Given the description of an element on the screen output the (x, y) to click on. 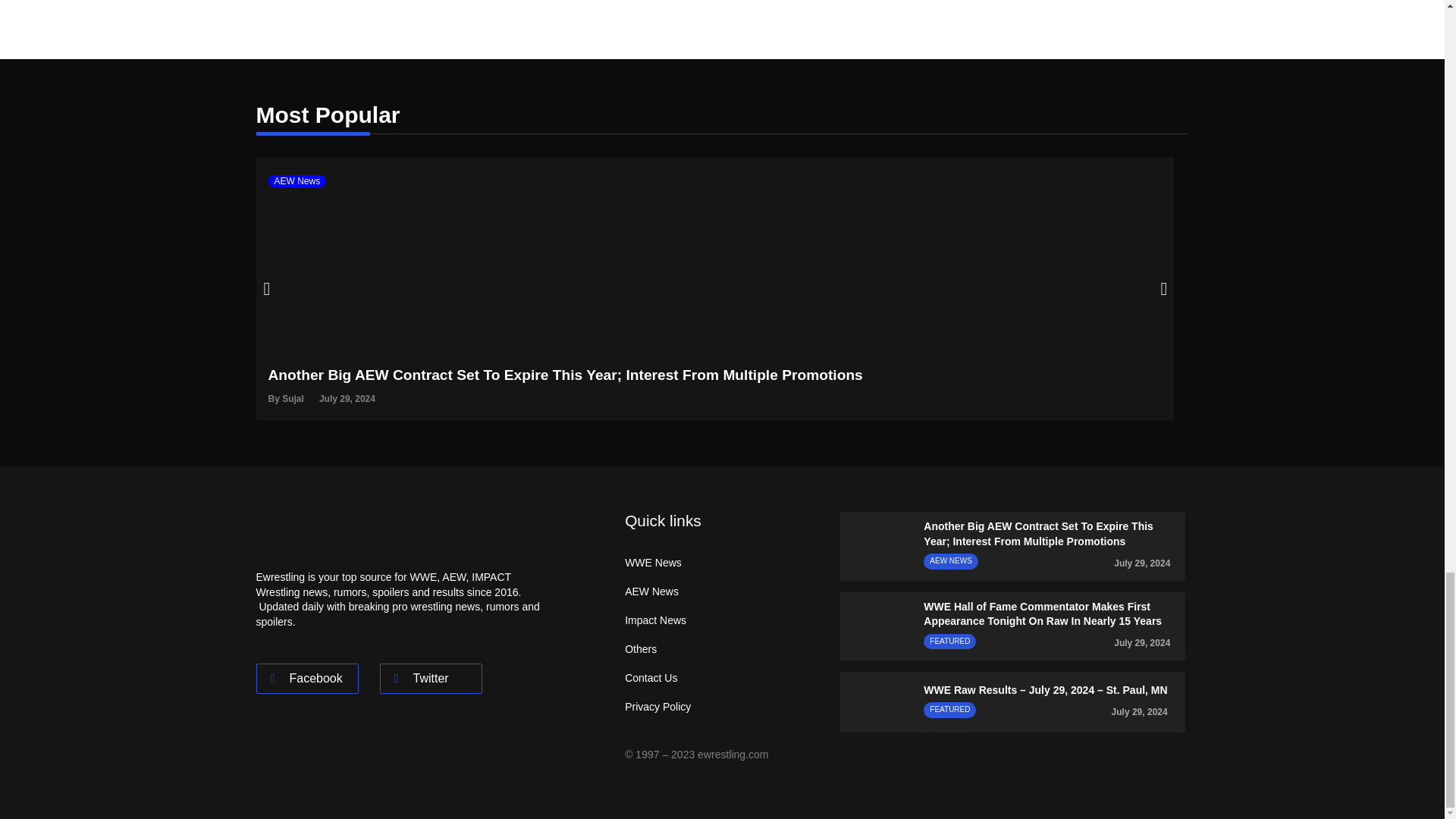
Posts by Sujal (292, 398)
